Given the description of an element on the screen output the (x, y) to click on. 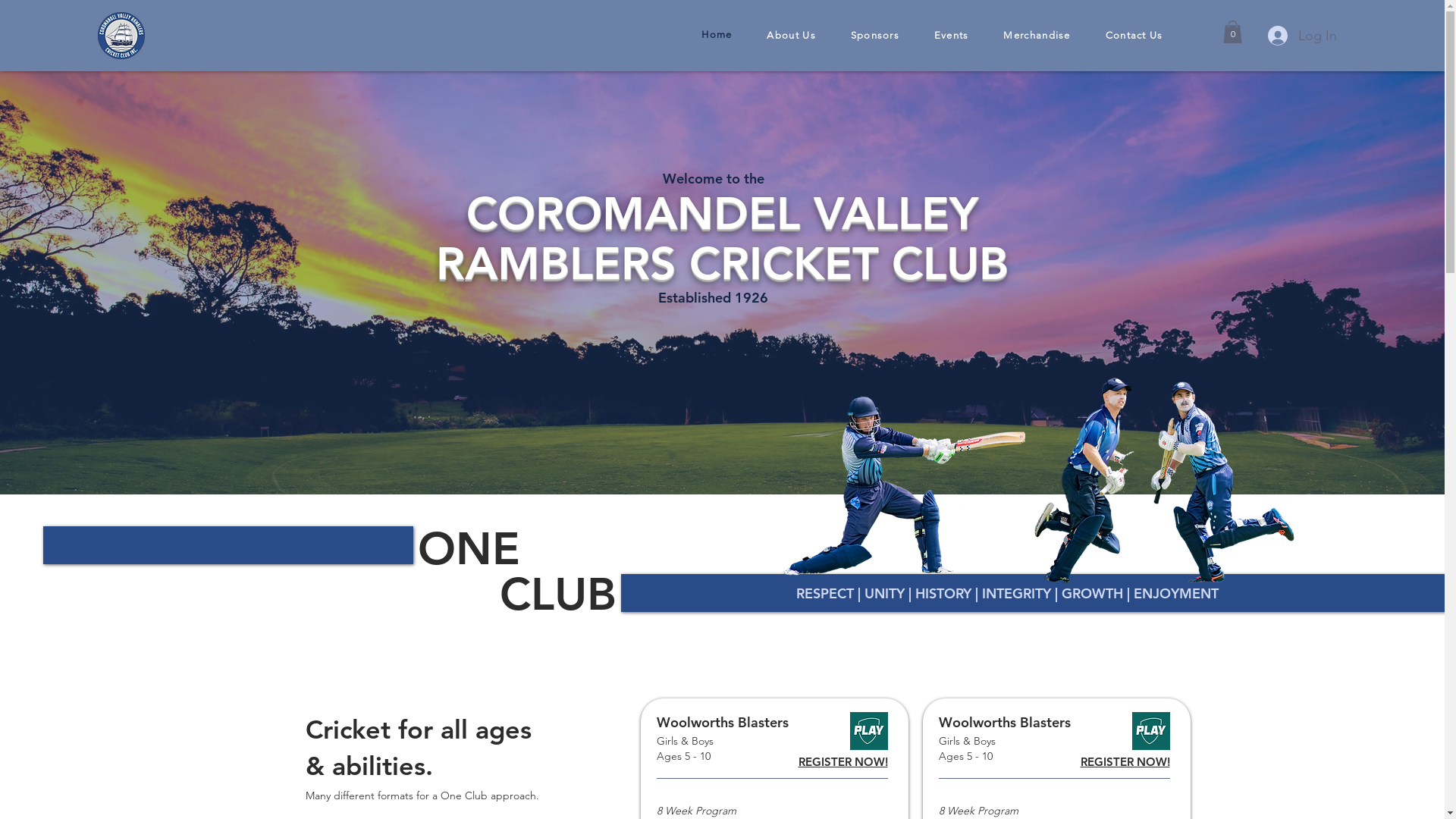
REGISTER NOW! Element type: text (842, 761)
0 Element type: text (1231, 31)
Events Element type: text (951, 35)
About Us Element type: text (791, 35)
Home Element type: text (717, 35)
Sponsors Element type: text (874, 35)
REGISTER NOW! Element type: text (1124, 761)
Merchandise Element type: text (1036, 35)
Contact Us Element type: text (1134, 35)
Log In Element type: text (1302, 35)
